Given the description of an element on the screen output the (x, y) to click on. 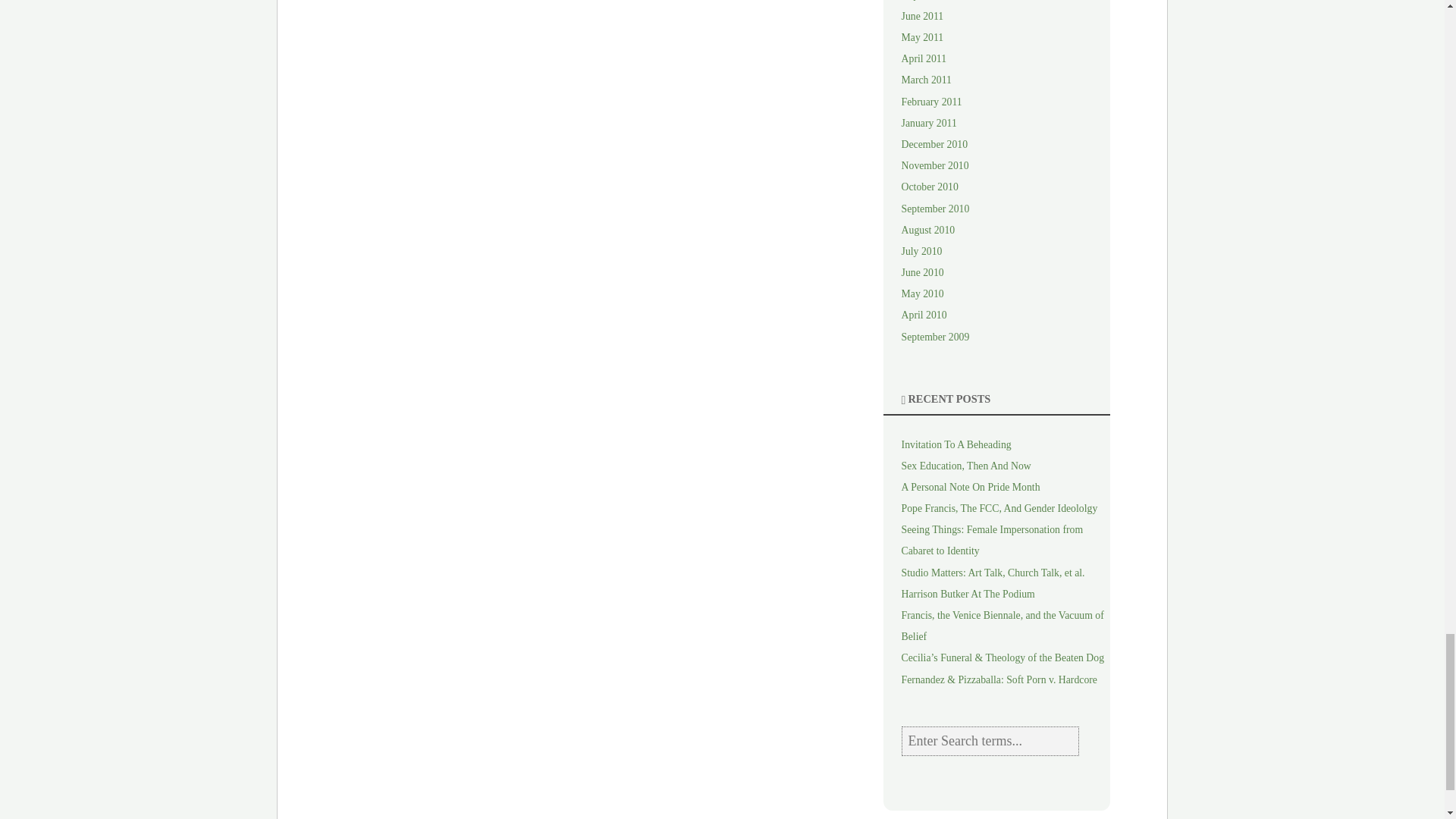
Search for: (989, 740)
